Given the description of an element on the screen output the (x, y) to click on. 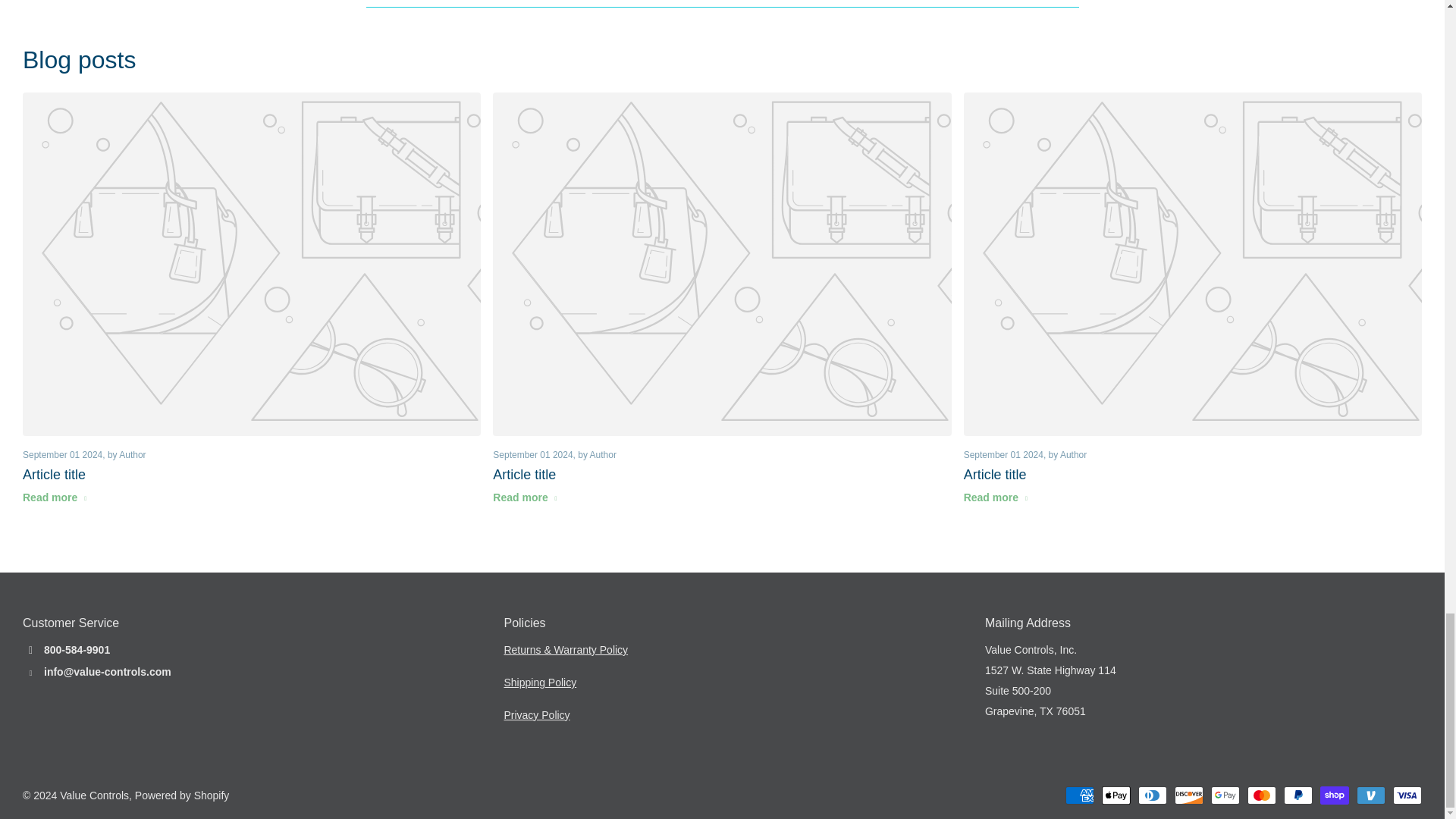
Refund Policy (565, 649)
Mastercard (1261, 795)
Discover (1189, 795)
Apple Pay (1116, 795)
Google Pay (1225, 795)
PayPal (1298, 795)
Shipping Policy (539, 682)
Shop Pay (1334, 795)
Privacy Policy (536, 715)
Visa (1407, 795)
